Given the description of an element on the screen output the (x, y) to click on. 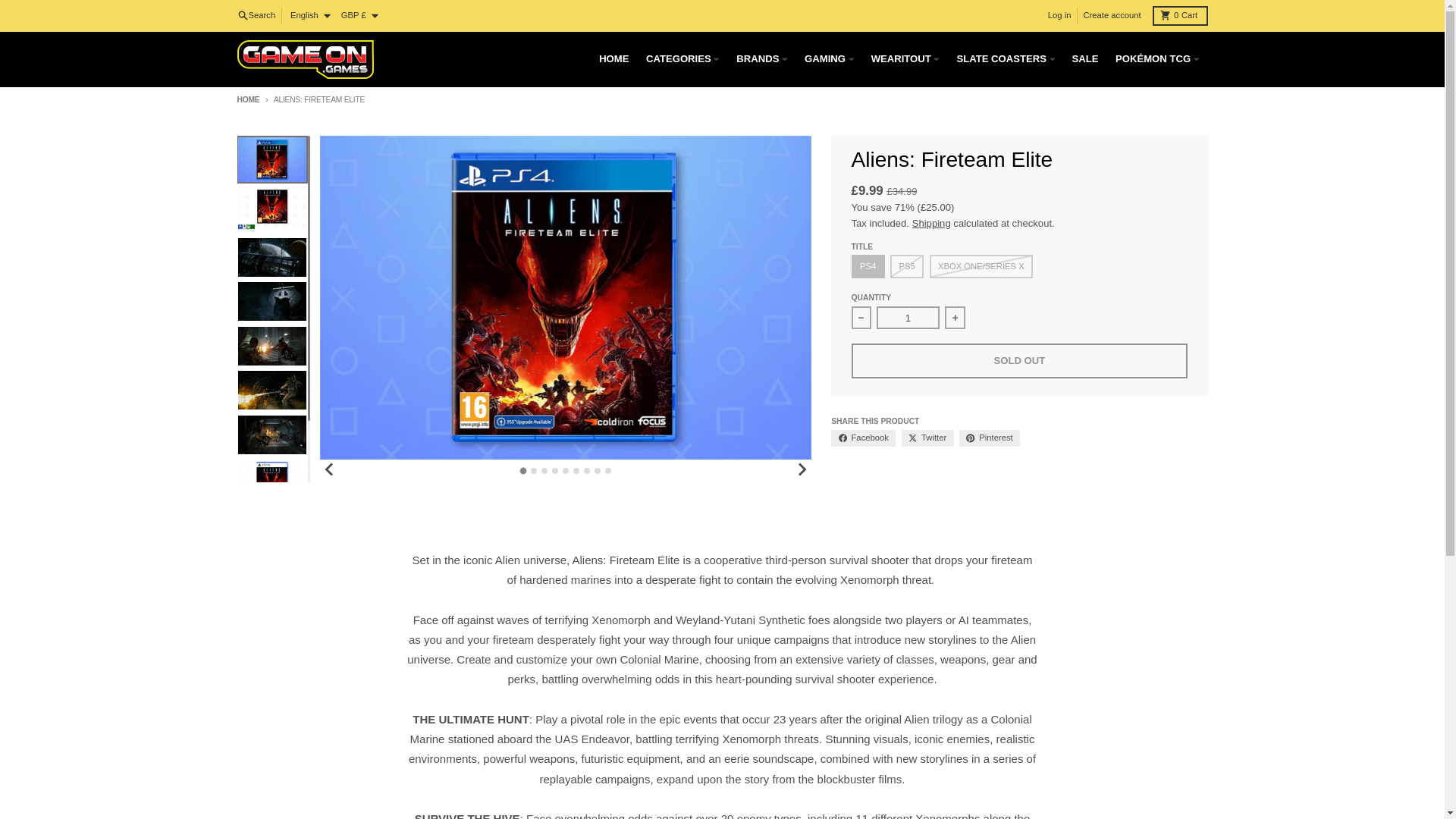
1 (907, 317)
Search (256, 16)
Log in (1059, 16)
Create account (1112, 16)
Back to the homepage (247, 99)
English (308, 16)
